Given the description of an element on the screen output the (x, y) to click on. 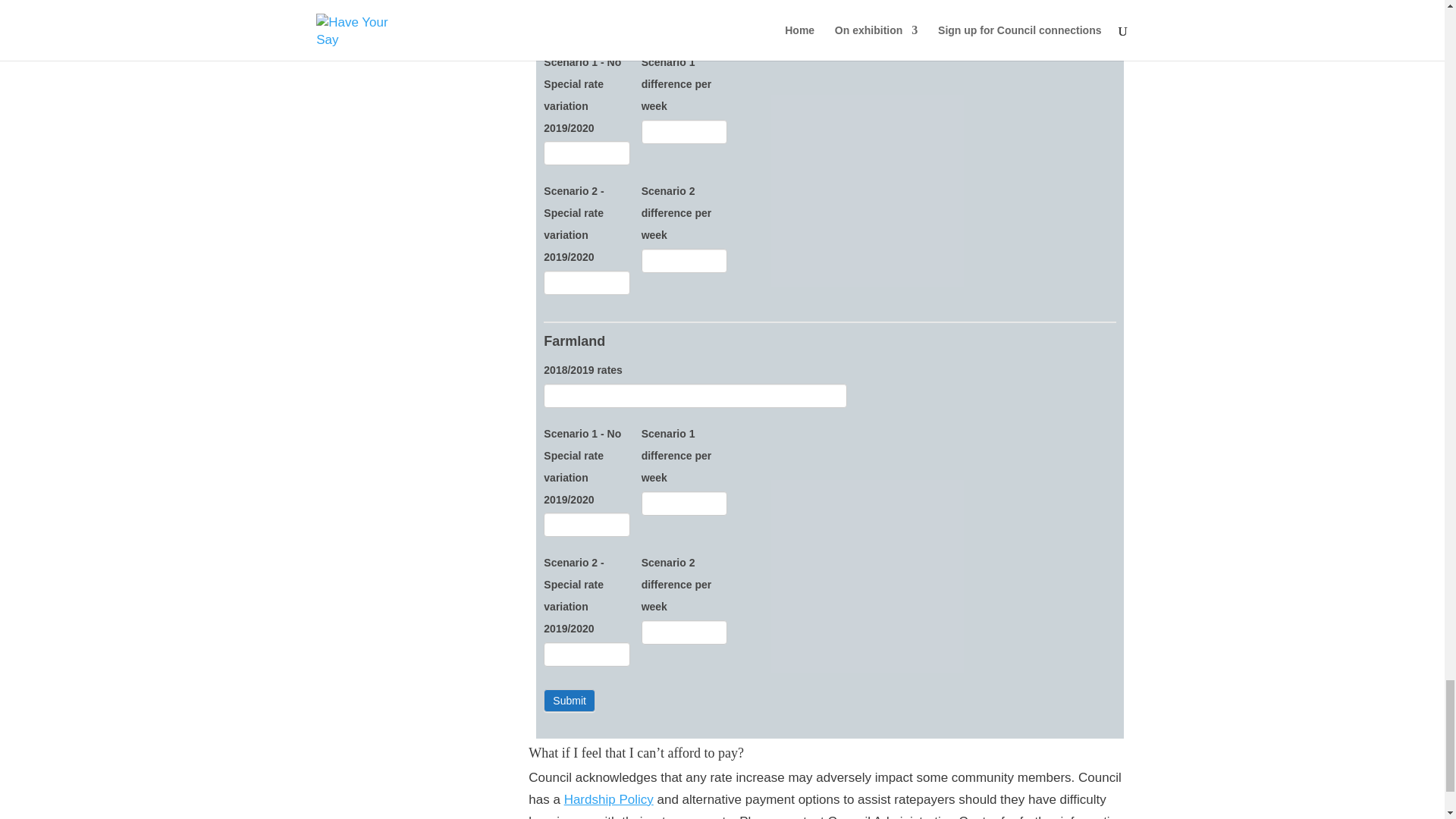
Submit (569, 700)
Hardship Policy (608, 799)
